Given the description of an element on the screen output the (x, y) to click on. 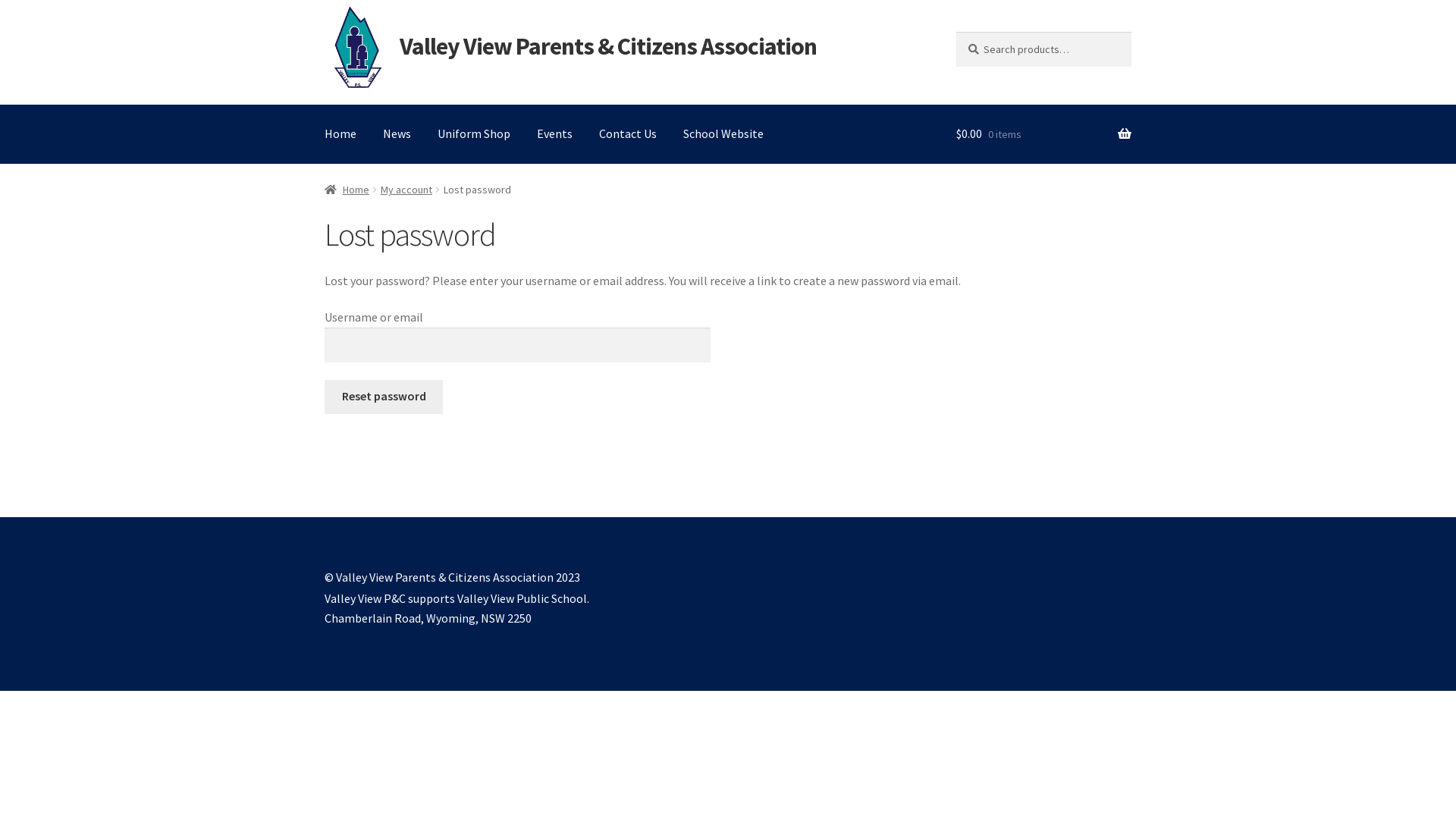
Contact Us Element type: text (627, 133)
Home Element type: text (340, 133)
Skip to navigation Element type: text (323, 31)
Home Element type: text (346, 189)
My account Element type: text (406, 189)
Uniform Shop Element type: text (473, 133)
News Element type: text (396, 133)
Search Element type: text (955, 31)
School Website Element type: text (723, 133)
Valley View Parents & Citizens Association Element type: text (607, 46)
Valley View Parents & Citizens Association Element type: hover (357, 46)
$0.00 0 items Element type: text (1043, 133)
Events Element type: text (554, 133)
Reset password Element type: text (383, 396)
